Given the description of an element on the screen output the (x, y) to click on. 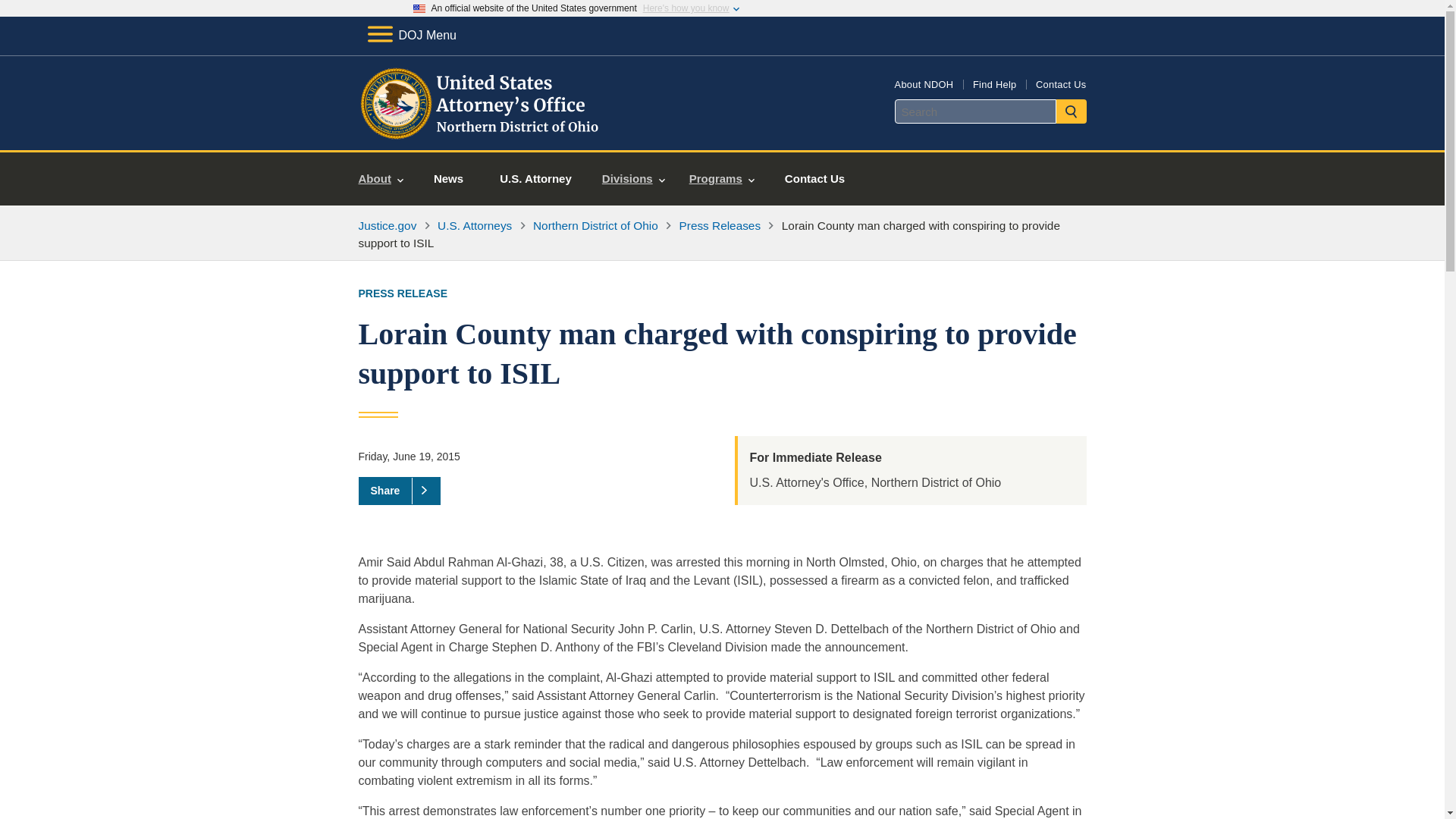
Share (398, 490)
About NDOH (924, 84)
Find Help (994, 84)
About (380, 179)
Programs (722, 179)
Divisions (633, 179)
Contact Us (1060, 84)
U.S. Attorneys (475, 225)
Justice.gov (387, 225)
DOJ Menu (411, 35)
Contact Us (815, 179)
Northern District of Ohio (595, 225)
Home (481, 132)
U.S. Attorney (535, 179)
Press Releases (720, 225)
